Given the description of an element on the screen output the (x, y) to click on. 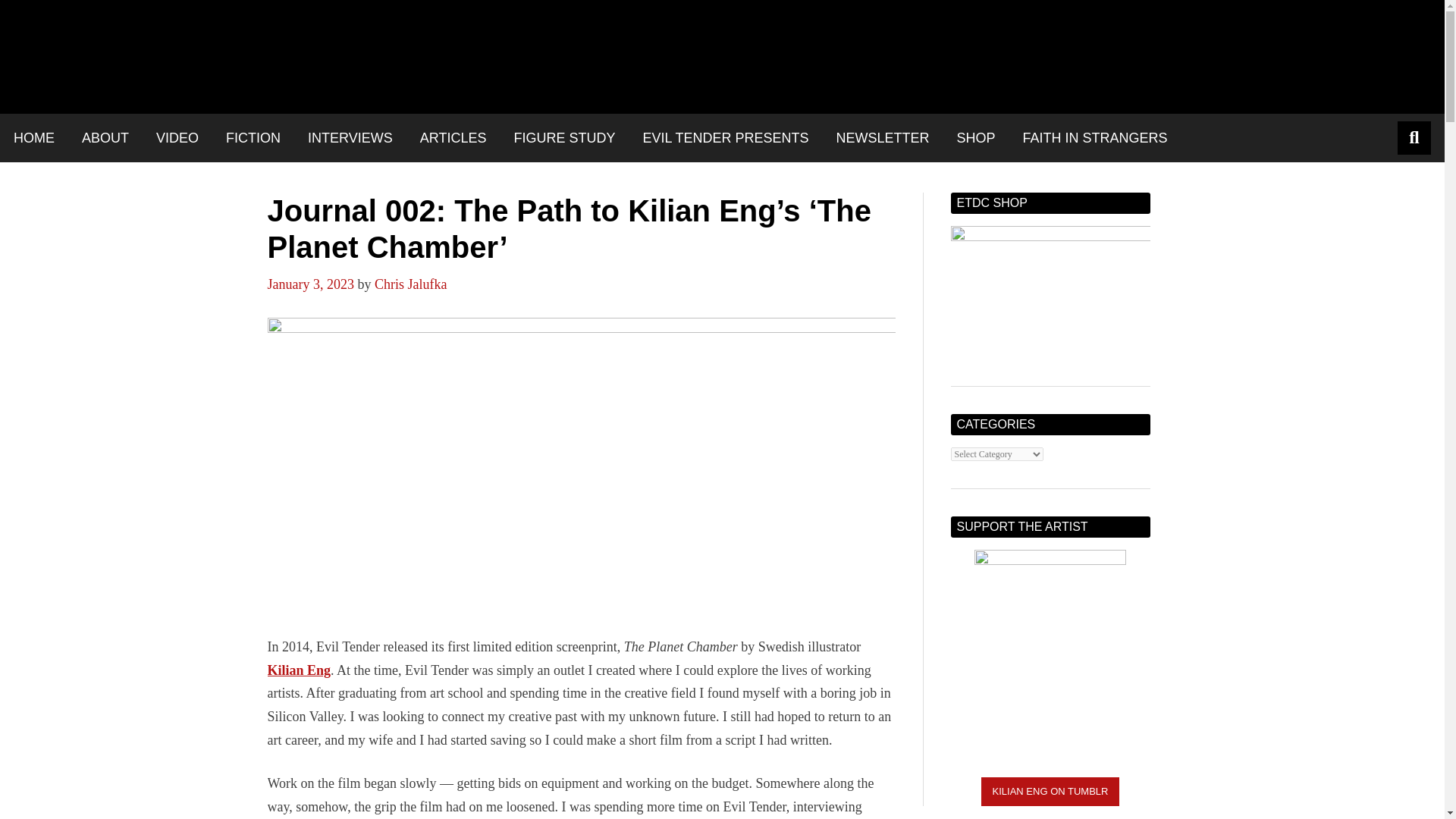
FICTION (252, 137)
ARTICLES (453, 137)
VIDEO (177, 137)
INTERVIEWS (349, 137)
ABOUT (105, 137)
HOME (34, 137)
